Given the description of an element on the screen output the (x, y) to click on. 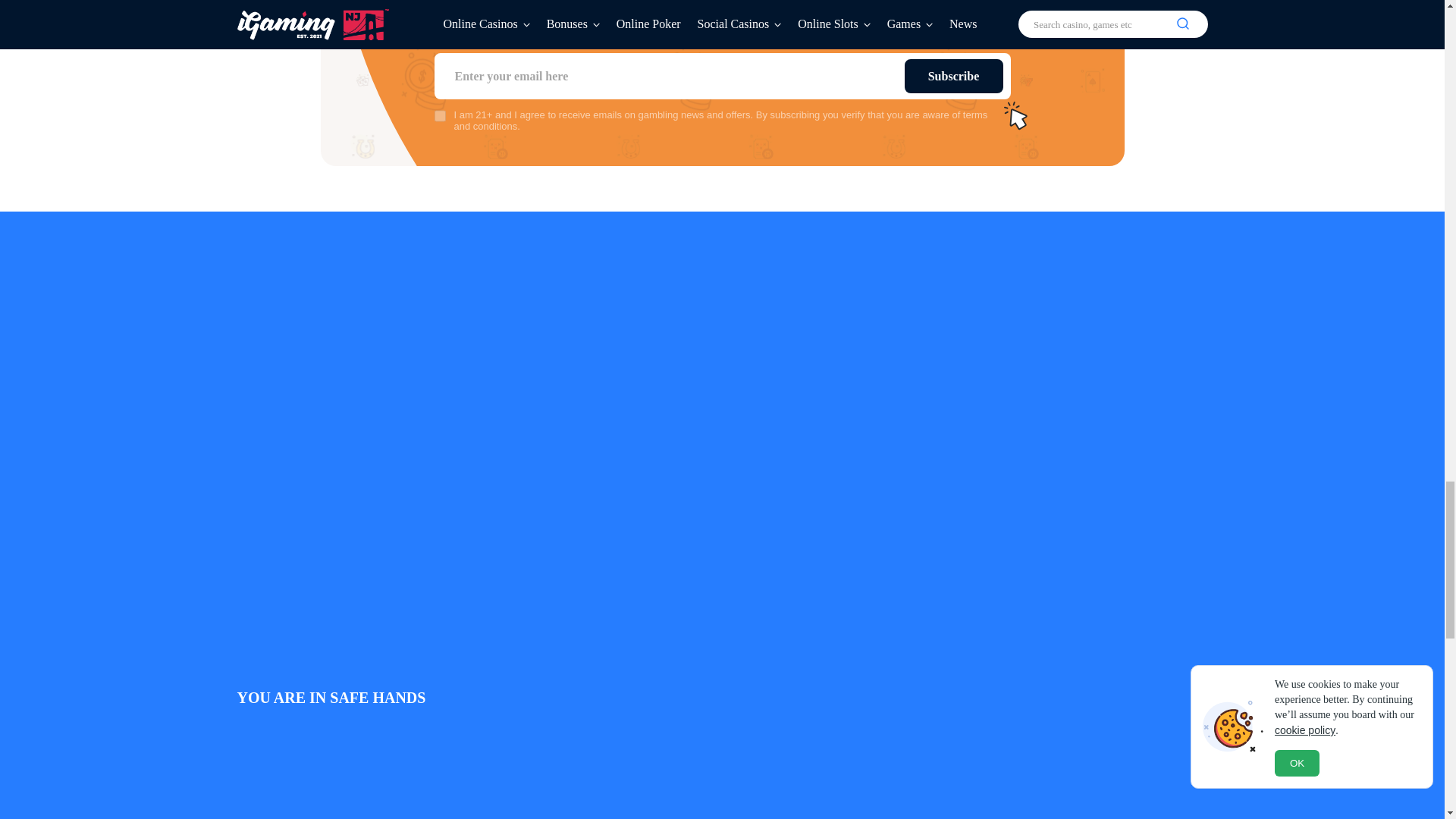
on (439, 115)
